Given the description of an element on the screen output the (x, y) to click on. 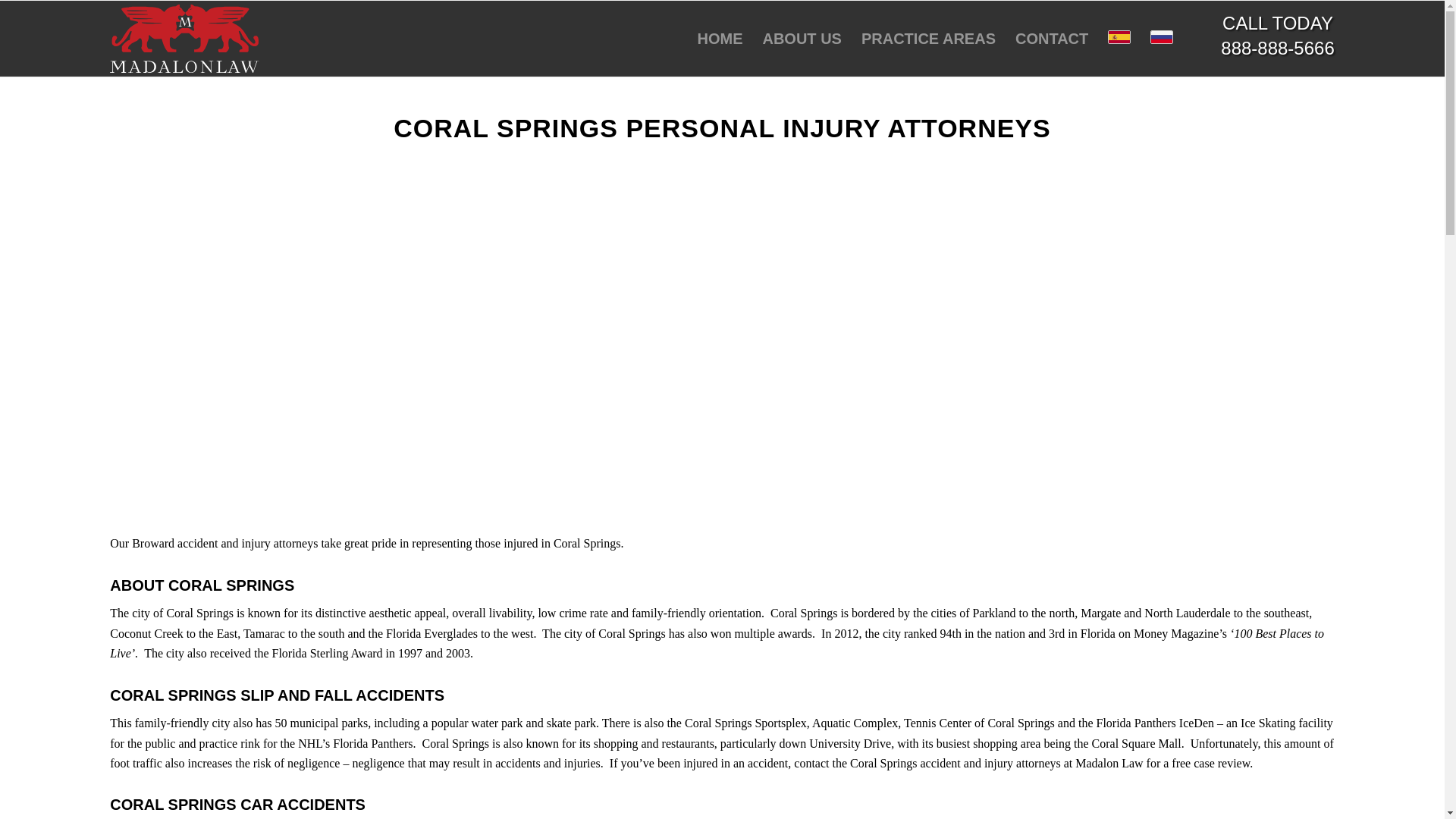
PRACTICE AREAS (928, 38)
logo-red-white-white (184, 38)
888-888-5666 (1277, 47)
ABOUT US (801, 38)
logo-red-white-white (184, 38)
CALL TODAY (1278, 23)
CONTACT (1051, 38)
